Given the description of an element on the screen output the (x, y) to click on. 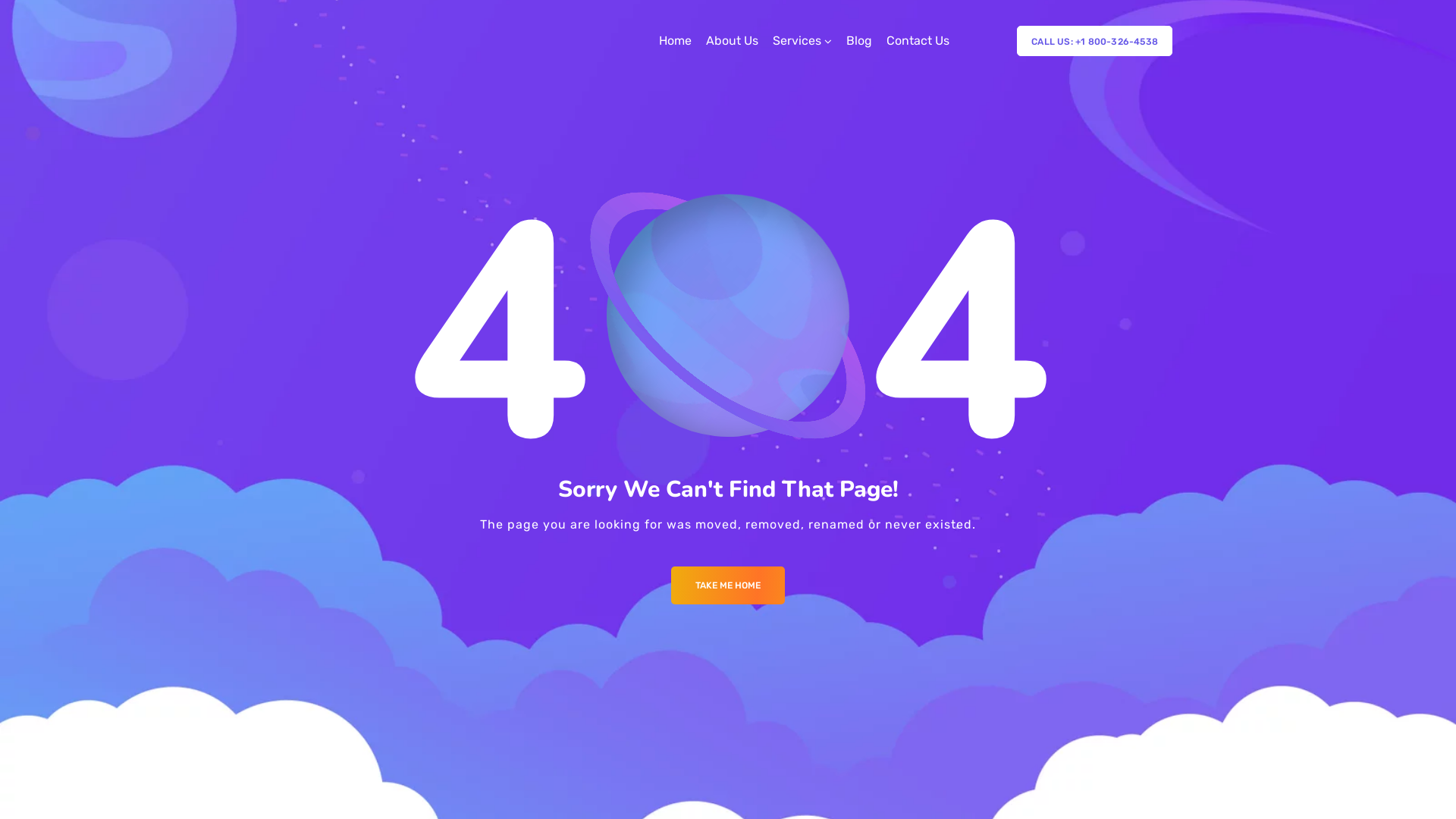
TAKE ME HOME Element type: text (727, 585)
CALL US: +1 800-326-4538 Element type: text (1094, 40)
Contact Us Element type: text (917, 40)
Home Element type: text (674, 40)
Services Element type: text (801, 40)
Blog Element type: text (859, 40)
About Us Element type: text (732, 40)
